Given the description of an element on the screen output the (x, y) to click on. 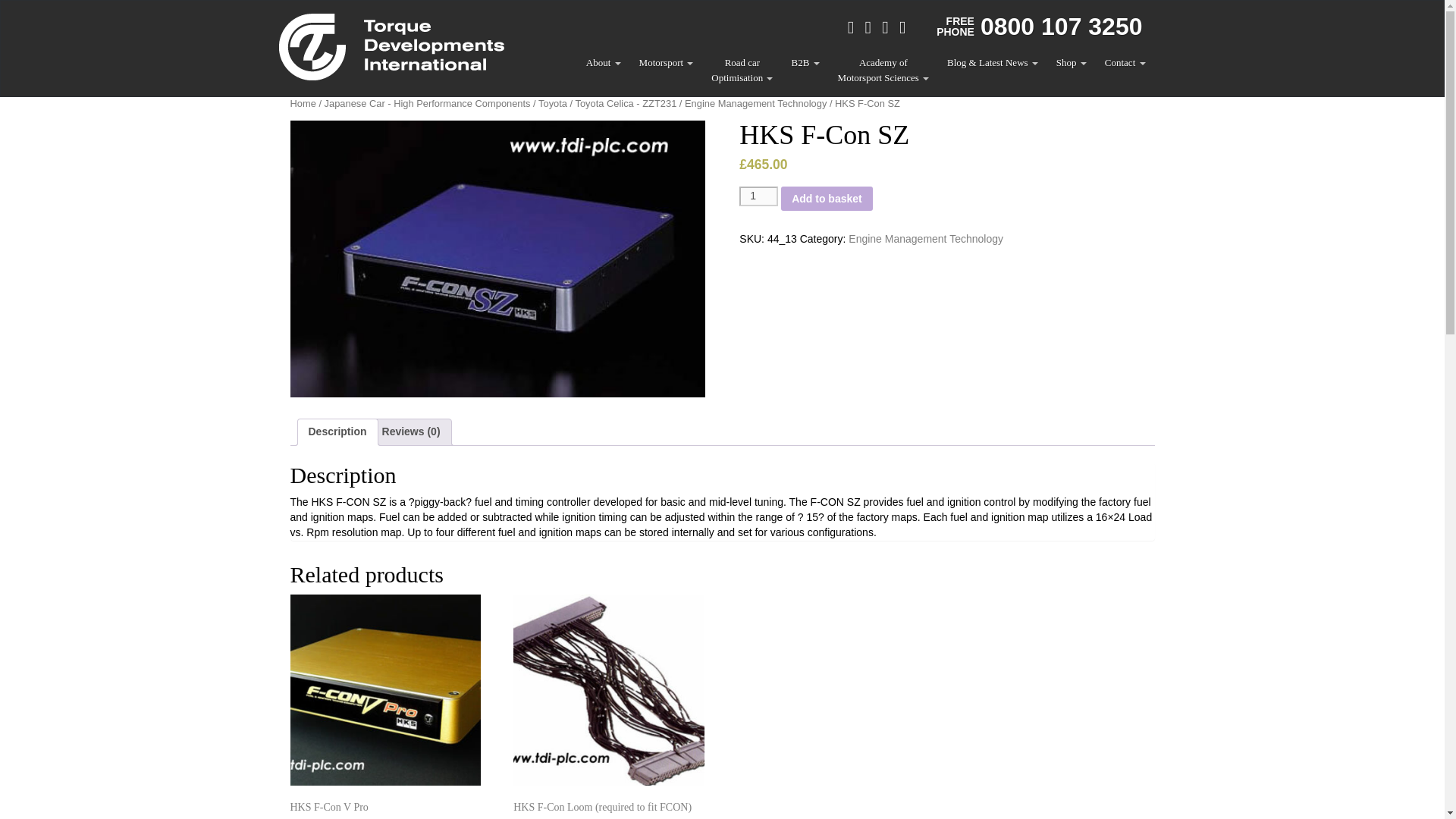
B2B (804, 62)
About (742, 70)
Motorsport (883, 70)
Torque Developments International (603, 62)
HKS F-Con SZ (666, 62)
1 (391, 46)
